Given the description of an element on the screen output the (x, y) to click on. 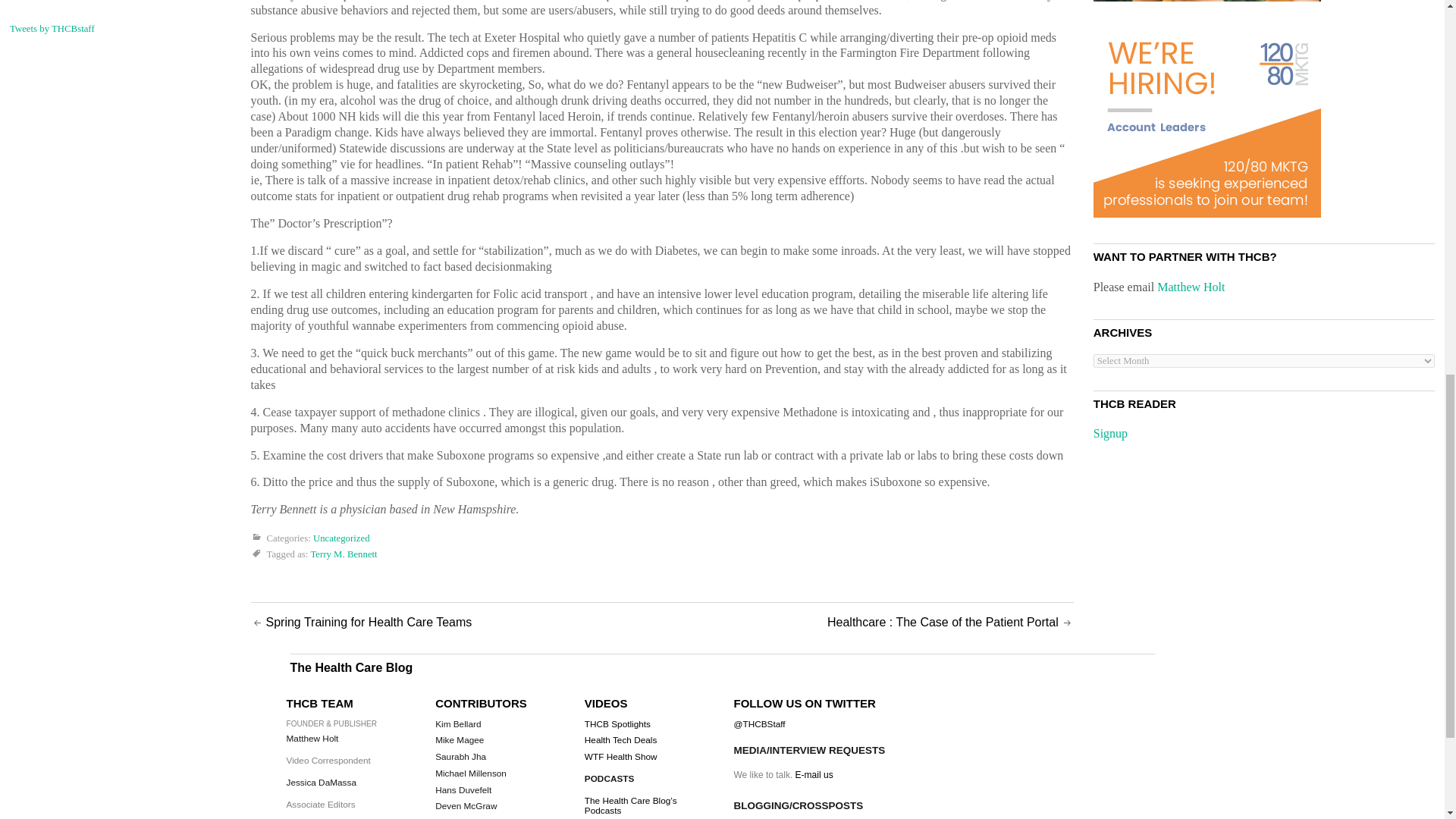
Healthcare : The Case of the Patient Portal (942, 621)
Matthew Holt (1190, 286)
Health Tech Deals (621, 739)
Spring Training for Health Care Teams (367, 621)
WTF Health Show (621, 756)
Signup (1109, 432)
Terry M. Bennett (343, 554)
THCB Spotlights (617, 724)
Uncategorized (341, 538)
Tweets by THCBstaff (52, 28)
